Given the description of an element on the screen output the (x, y) to click on. 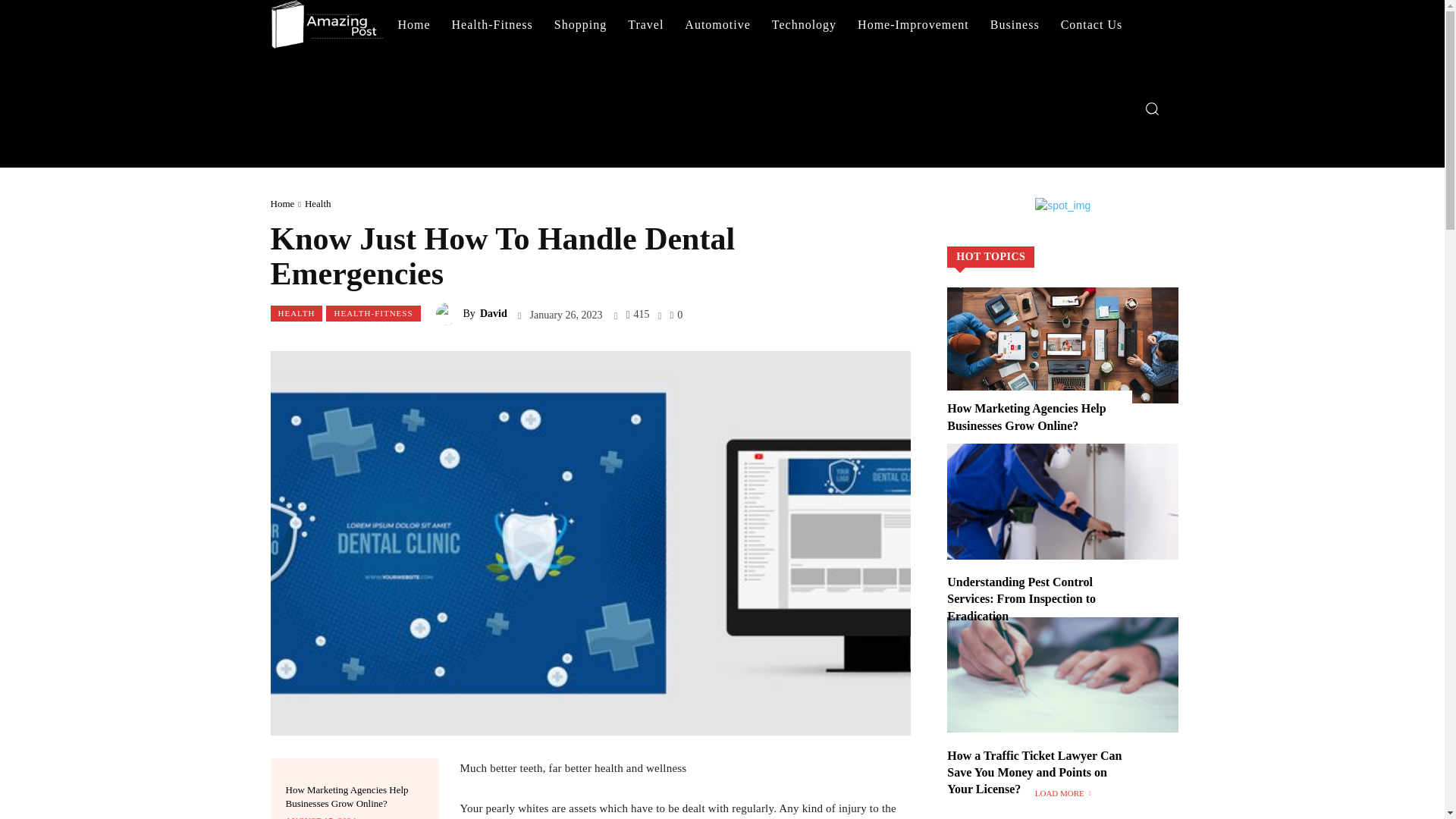
How Marketing Agencies Help Businesses Grow Online? (346, 796)
Travel (645, 24)
Home-Improvement (913, 24)
HEALTH-FITNESS (373, 313)
Contact Us (1091, 24)
View all posts in Health (317, 203)
Business (1014, 24)
Automotive (717, 24)
David (449, 313)
Health (317, 203)
